Given the description of an element on the screen output the (x, y) to click on. 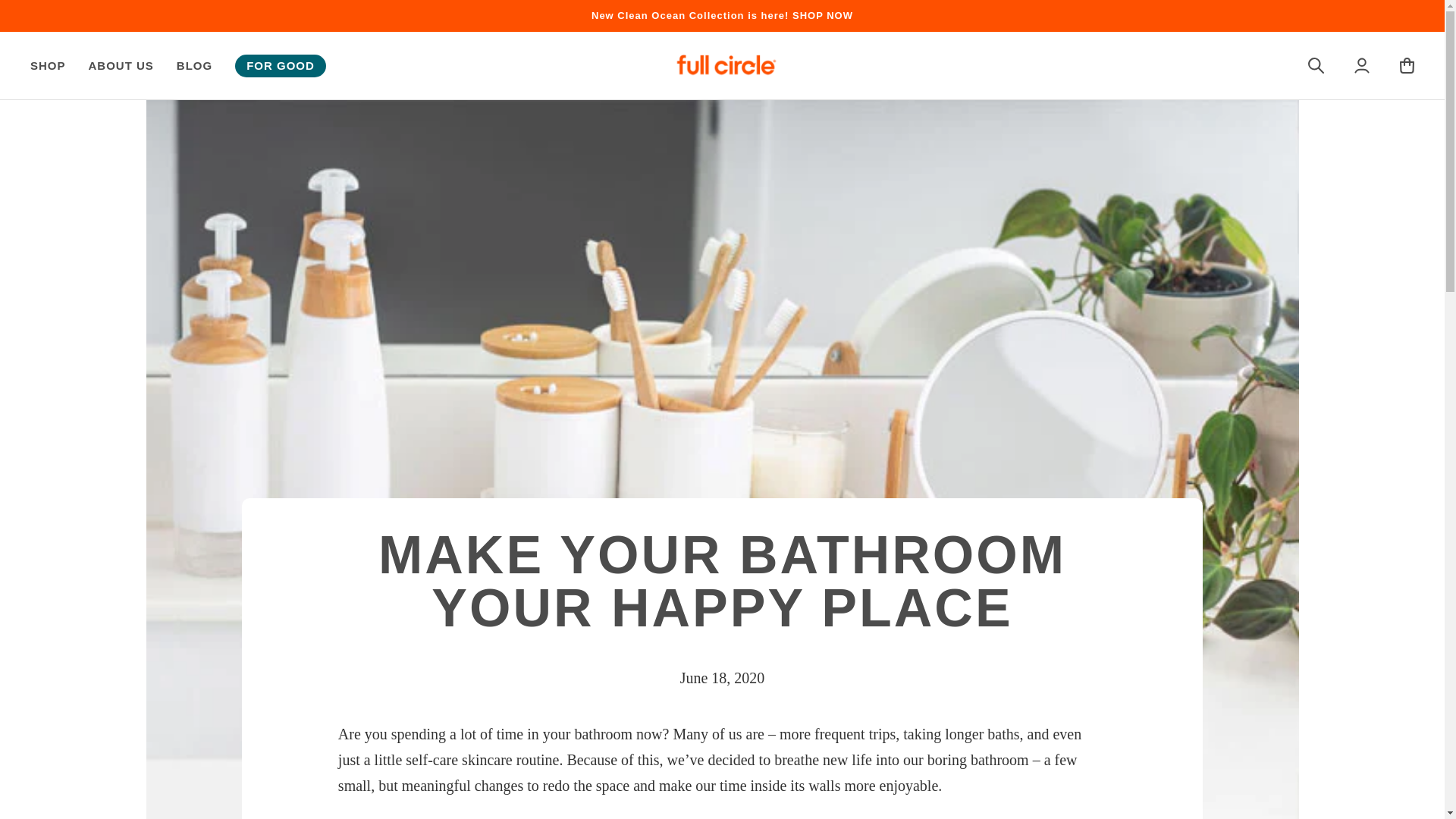
Clean Ocean (722, 15)
ABOUT US (121, 65)
FOR GOOD (280, 65)
close (1429, 17)
New Clean Ocean Collection is here! SHOP NOW (722, 15)
